Given the description of an element on the screen output the (x, y) to click on. 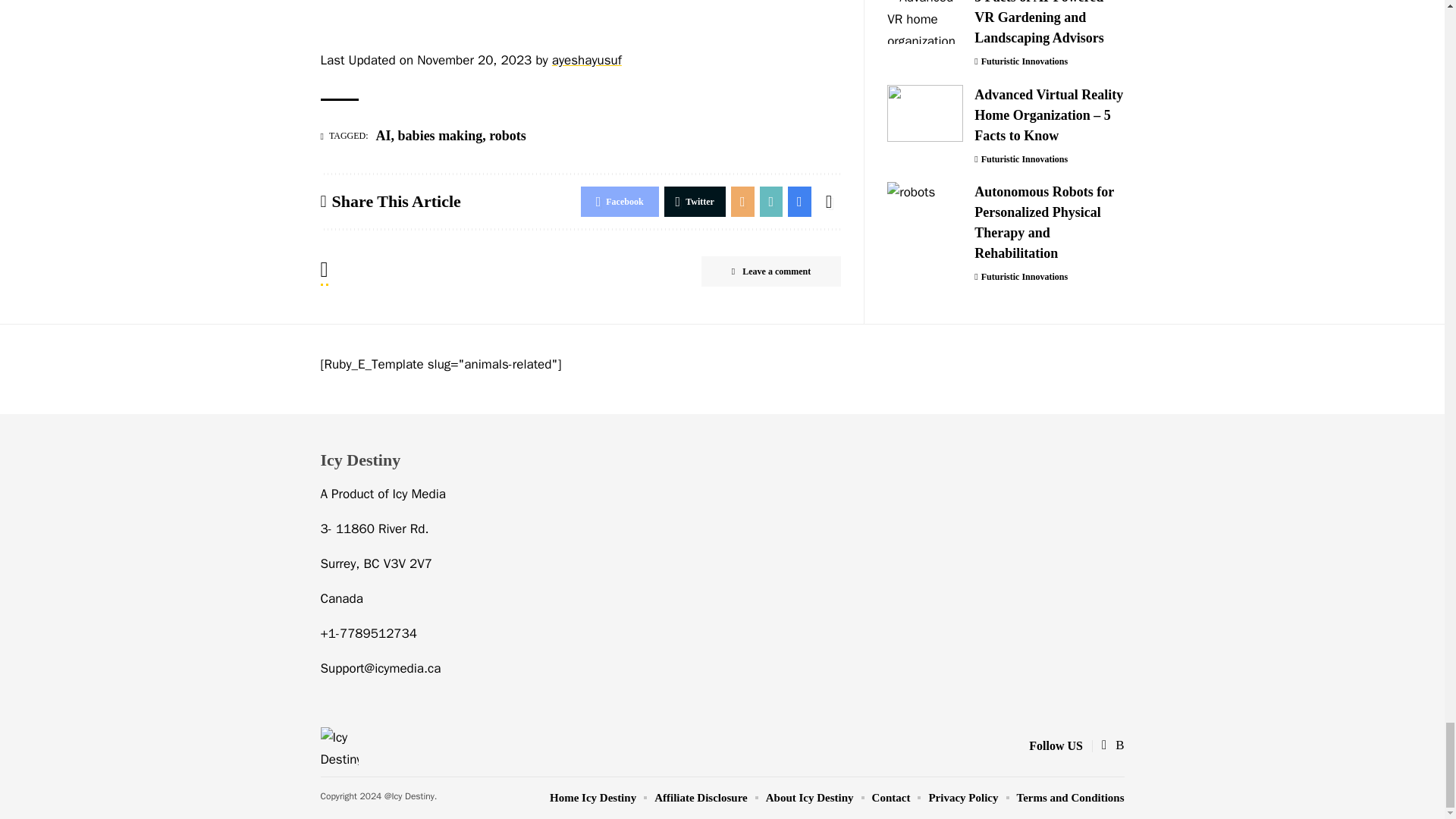
Icy Destiny (339, 745)
